Given the description of an element on the screen output the (x, y) to click on. 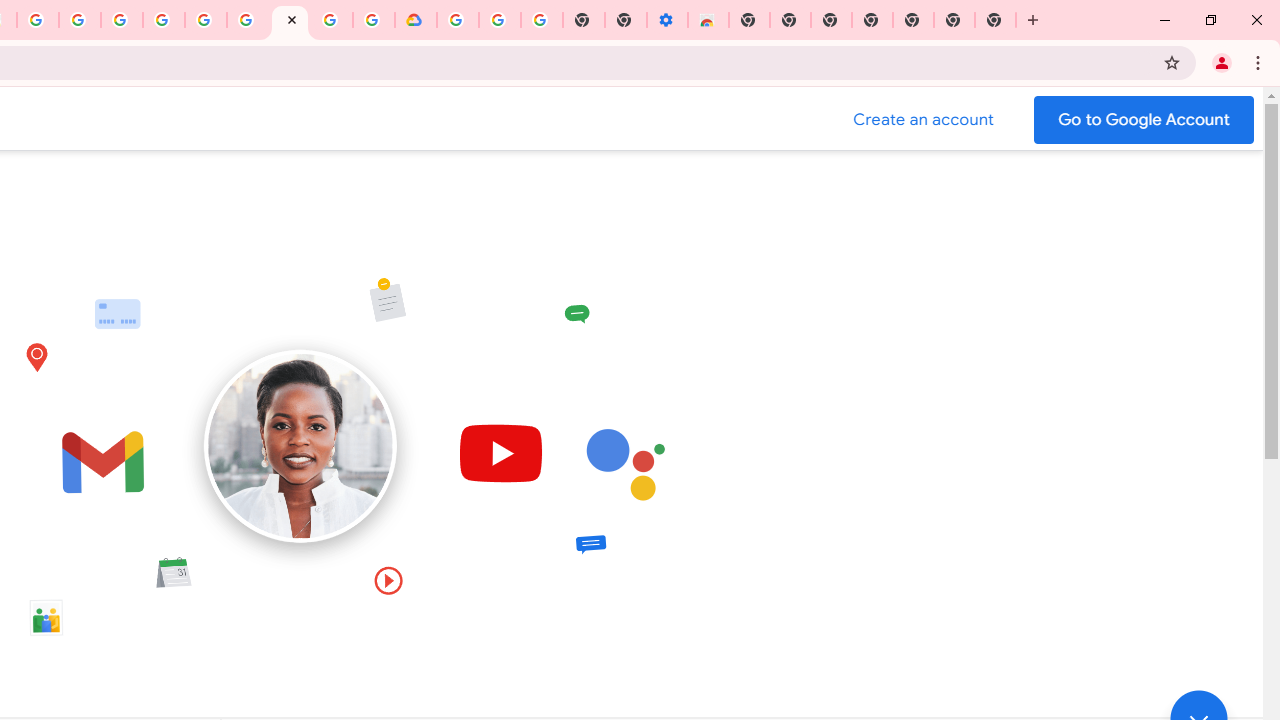
New Tab (995, 20)
Settings - Accessibility (667, 20)
Google Account Help (499, 20)
Sign in - Google Accounts (164, 20)
Turn cookies on or off - Computer - Google Account Help (542, 20)
Chrome Web Store - Accessibility extensions (708, 20)
Google Account Help (205, 20)
Sign in - Google Accounts (332, 20)
